Given the description of an element on the screen output the (x, y) to click on. 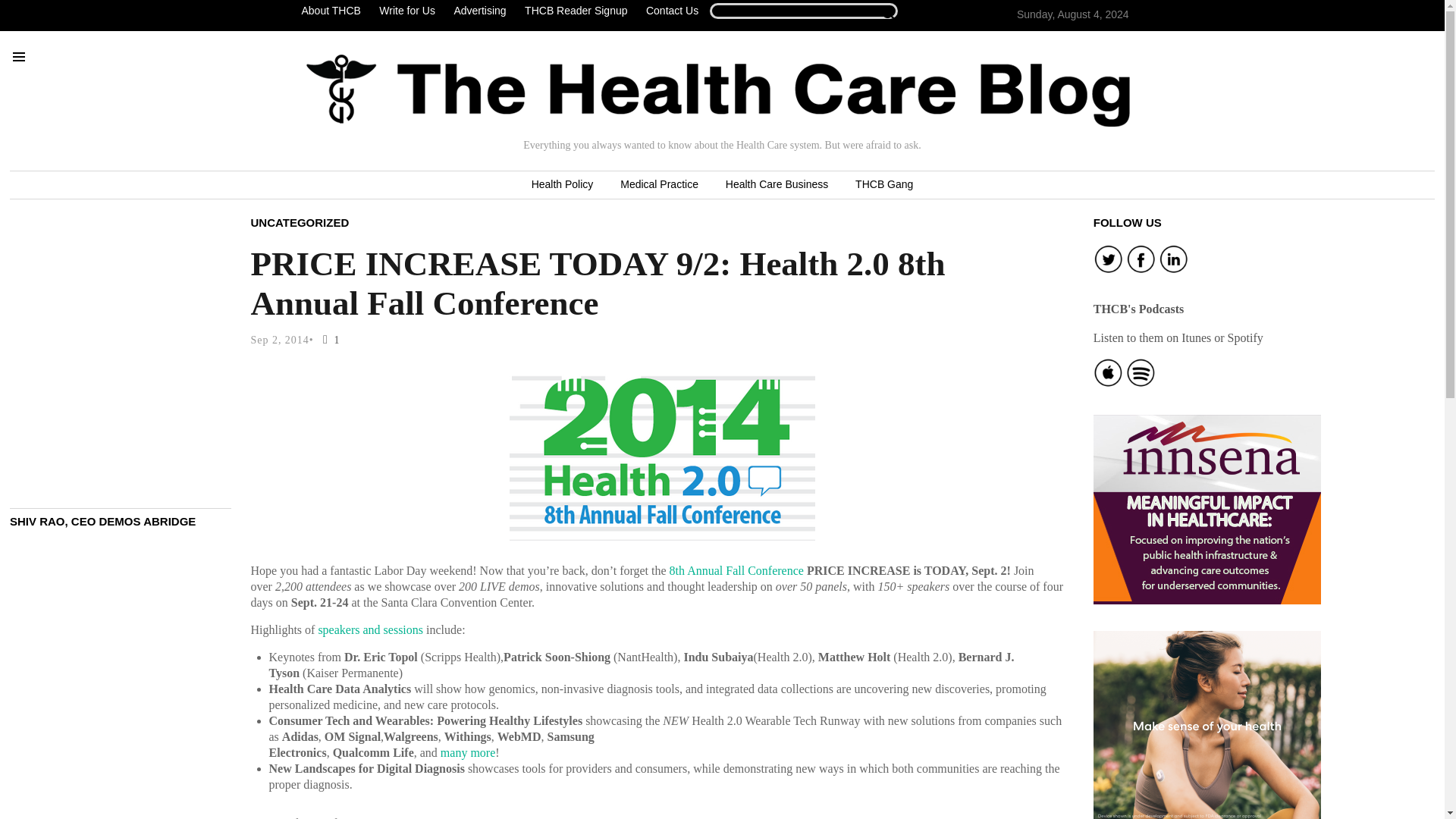
1 (328, 339)
UNCATEGORIZED (299, 221)
Advertising (479, 10)
Home (718, 90)
Health Care Business (776, 184)
Contact Us (672, 10)
Medical Practice (659, 184)
8th Annual Fall Conference (736, 570)
Health Policy (562, 184)
Write for Us (406, 10)
many more (468, 752)
About THCB (334, 10)
THCB Gang (883, 184)
speakers and sessions (370, 629)
THCB Reader Signup (575, 10)
